Given the description of an element on the screen output the (x, y) to click on. 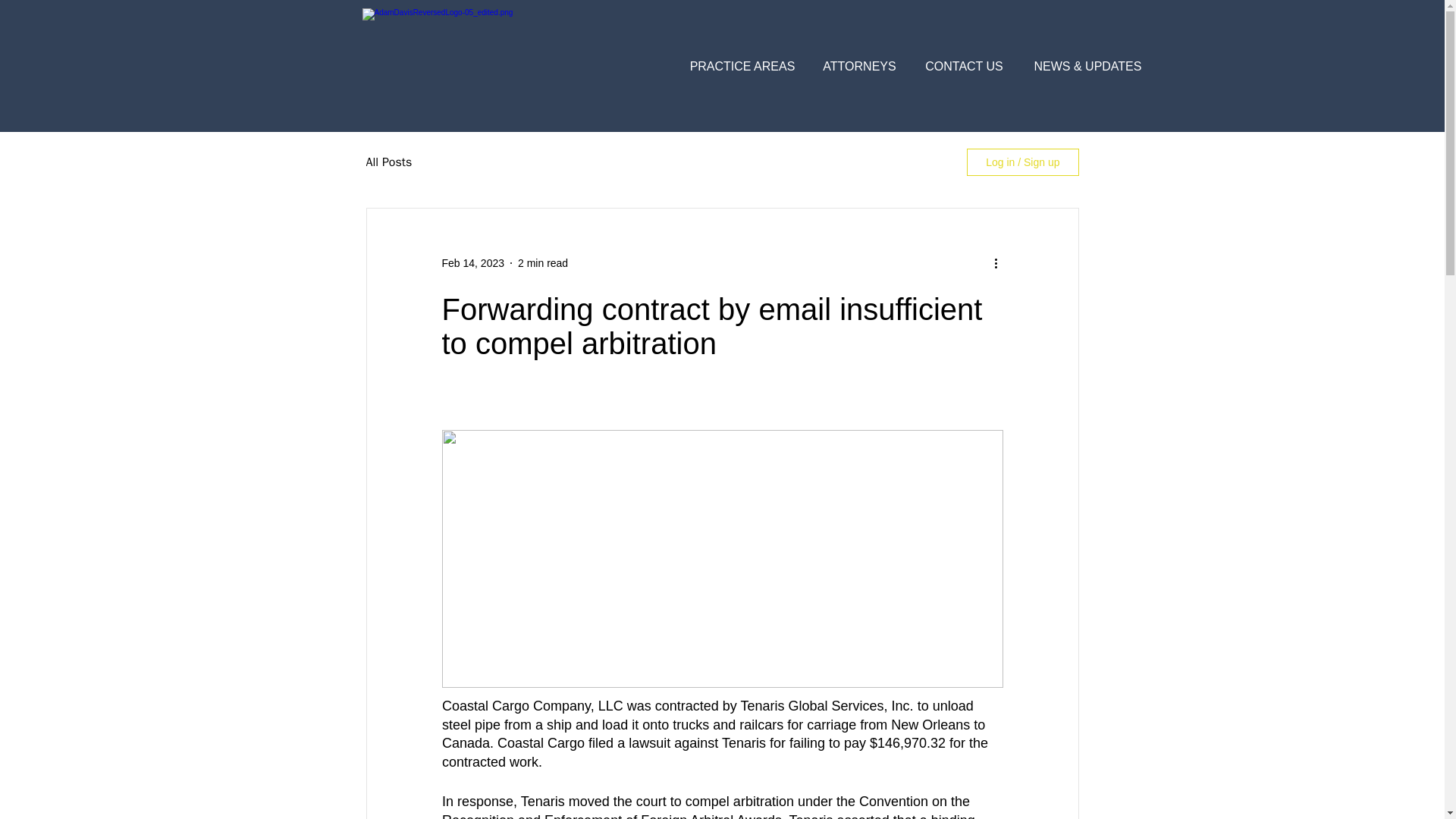
2 min read (542, 262)
ATTORNEYS (859, 66)
Feb 14, 2023 (472, 262)
CONTACT US (963, 66)
PRACTICE AREAS (743, 66)
All Posts (388, 162)
